Given the description of an element on the screen output the (x, y) to click on. 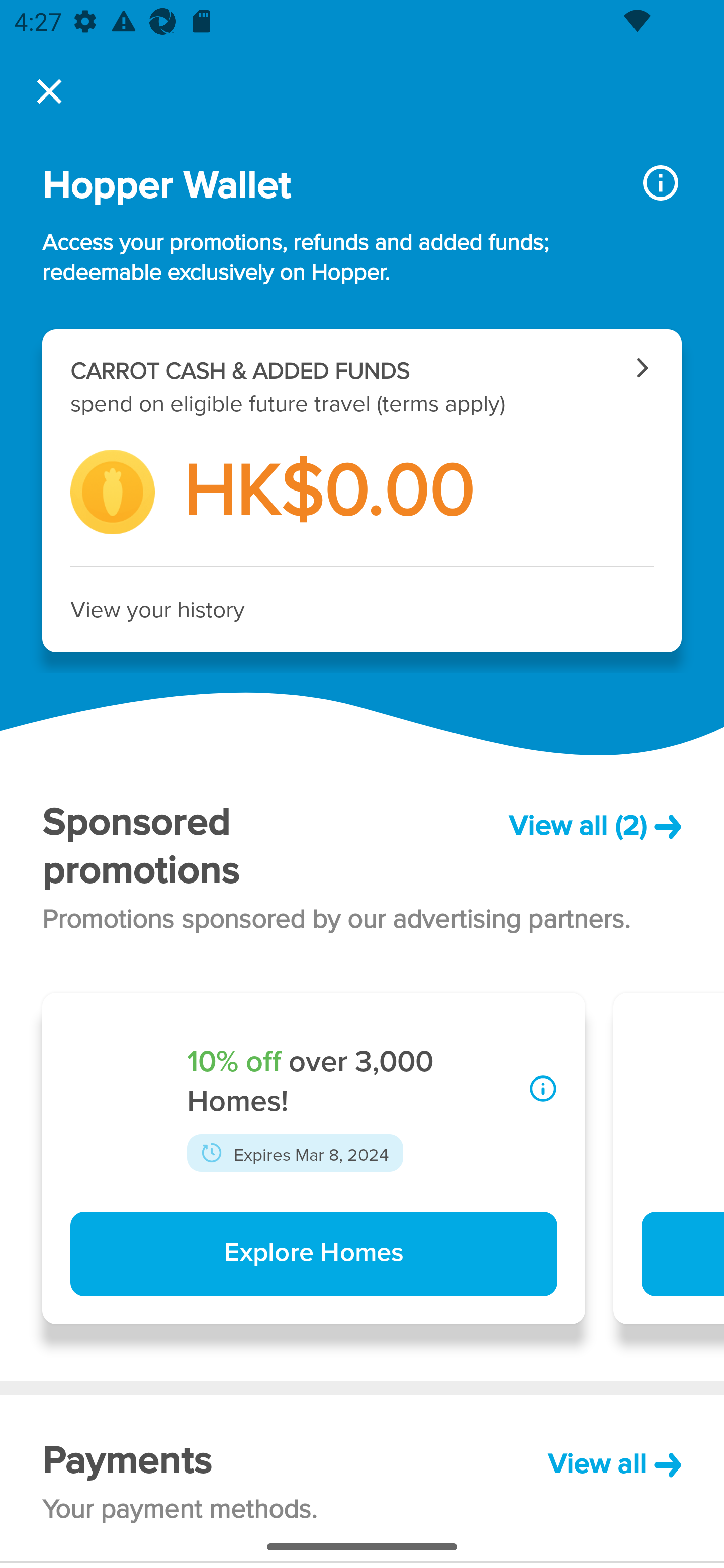
Navigate up (49, 91)
‍Hopper Wallet (326, 185)
‍View your history (361, 609)
‍Explore Homes (313, 1254)
‍Payments ‍View all ​ ‍Your payment methods. (362, 1477)
Help (633, 1475)
